Given the description of an element on the screen output the (x, y) to click on. 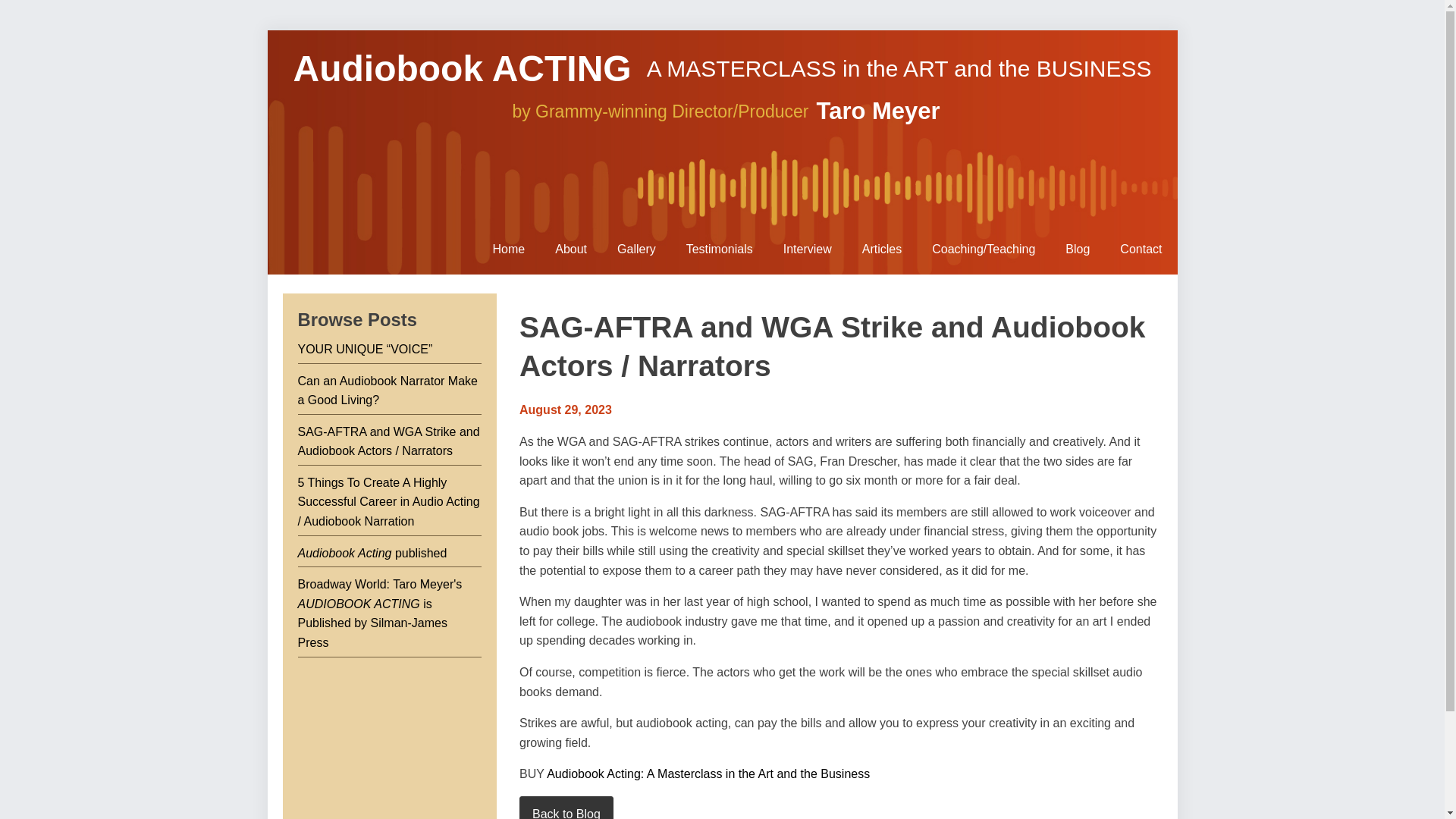
Back to Blog (565, 807)
About (571, 249)
Can an Audiobook Narrator Make a Good Living? (387, 390)
Gallery (636, 249)
Audiobook Acting published (371, 553)
Testimonials (719, 249)
Audiobook Acting: A Masterclass in the Art and the Business (708, 773)
Articles (882, 249)
Interview (807, 249)
